Given the description of an element on the screen output the (x, y) to click on. 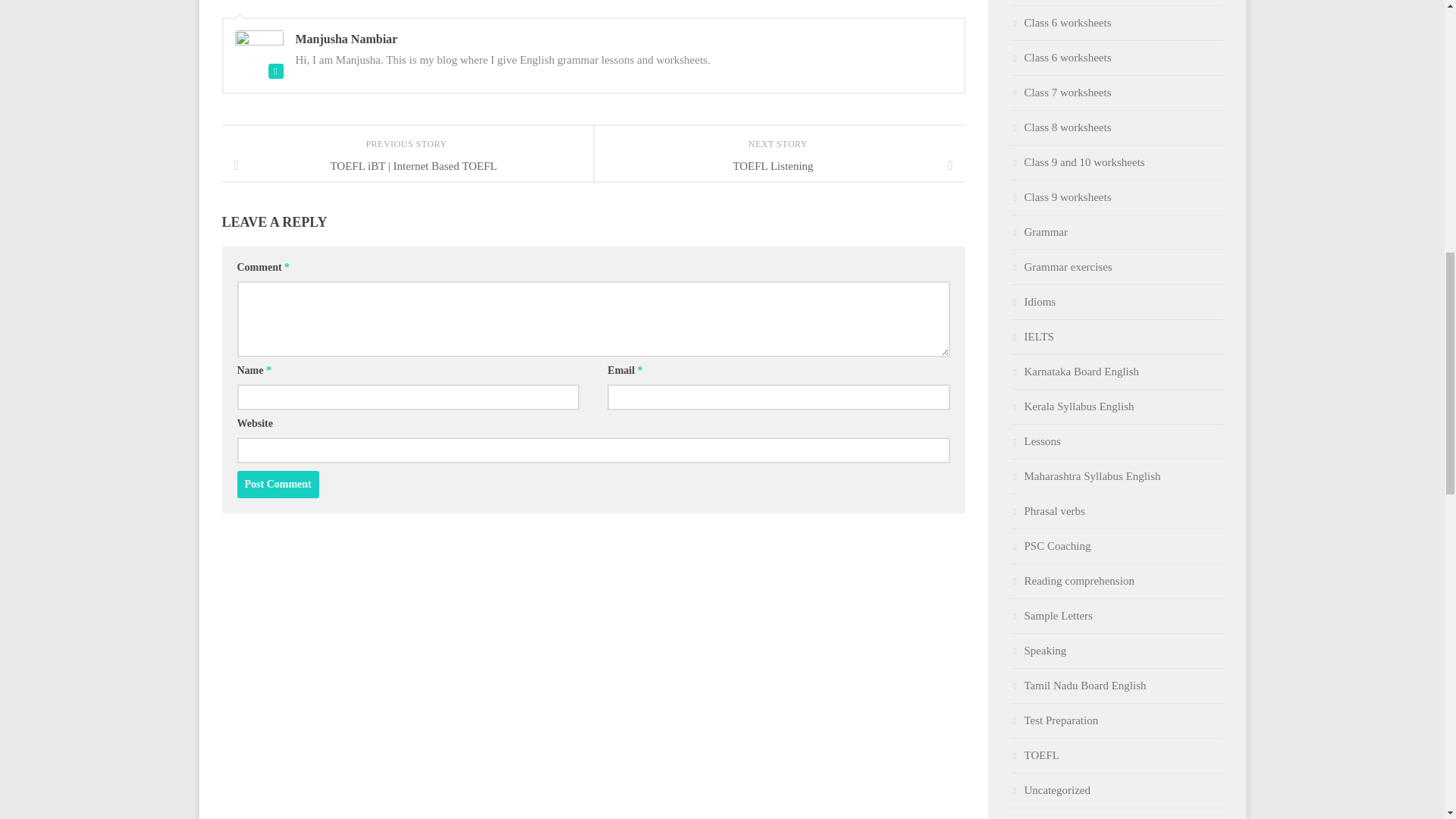
Post Comment (276, 483)
